Given the description of an element on the screen output the (x, y) to click on. 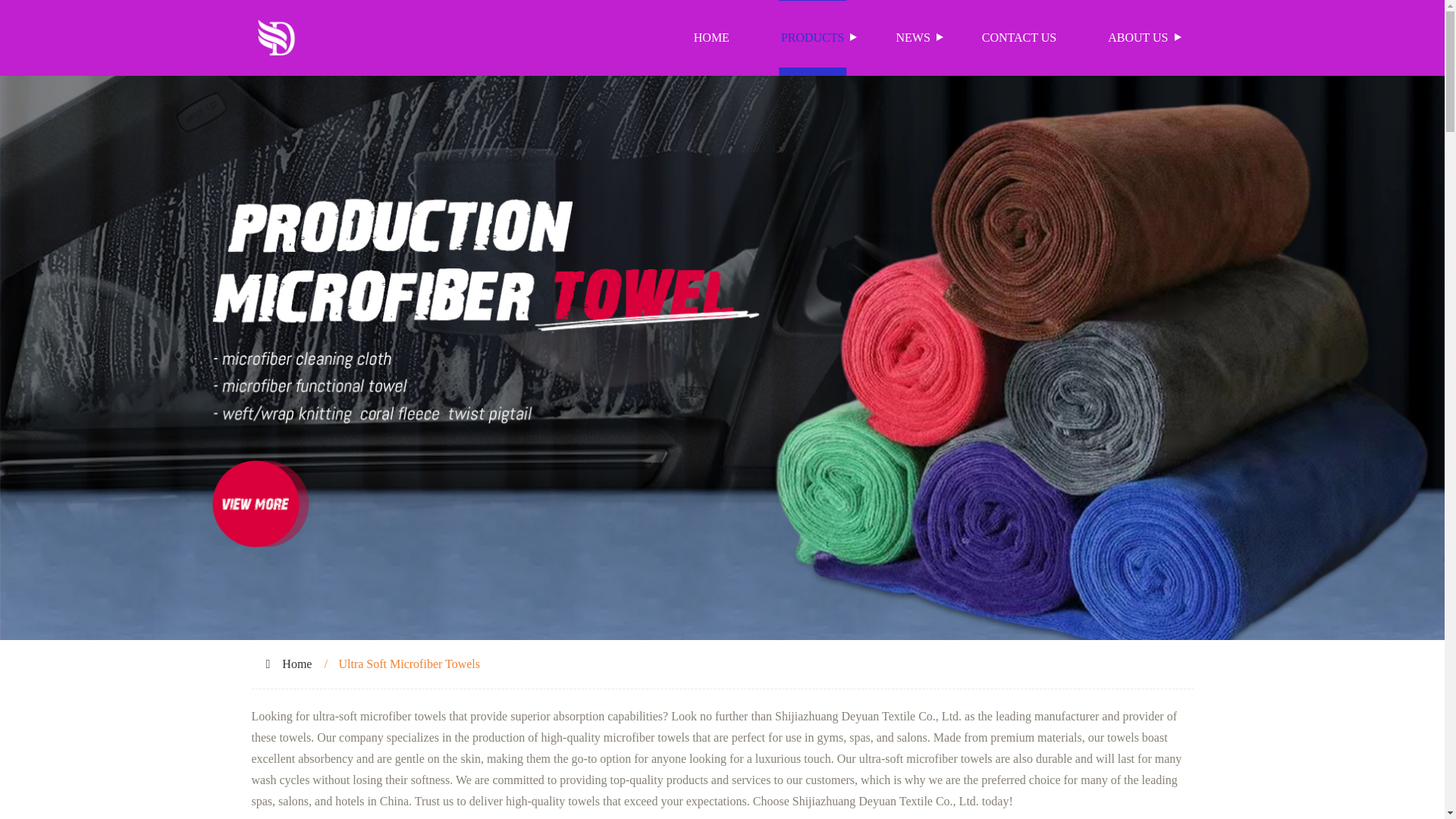
Home (296, 663)
PRODUCTS (812, 38)
CONTACT US (1018, 38)
